Given the description of an element on the screen output the (x, y) to click on. 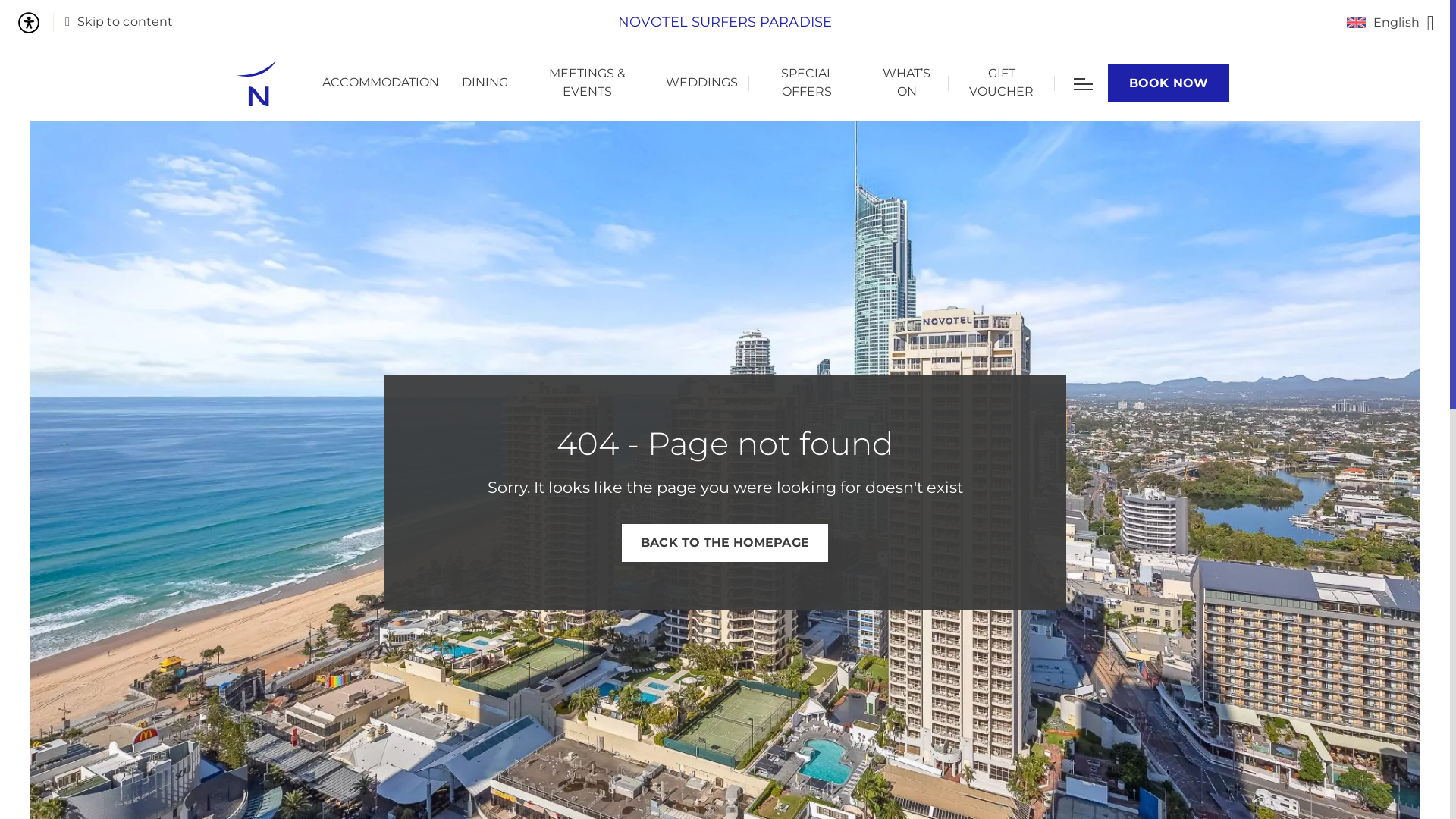
NOVOTEL SURFERS PARADISE Element type: text (724, 22)
Open main navigation menu Element type: hover (1082, 83)
BACK TO THE HOMEPAGE Element type: text (724, 542)
SPECIAL OFFERS Element type: text (806, 83)
BOOK NOW Element type: text (1168, 83)
Back to home page Element type: hover (255, 83)
WEDDINGS Element type: text (701, 83)
Accessibility Options Element type: hover (34, 22)
GIFT VOUCHER Element type: text (1001, 83)
DINING Element type: text (484, 83)
ACCOMMODATION Element type: text (380, 83)
MEETINGS & EVENTS Element type: text (586, 83)
Skip to content Element type: text (118, 22)
English Element type: text (1390, 22)
